Given the description of an element on the screen output the (x, y) to click on. 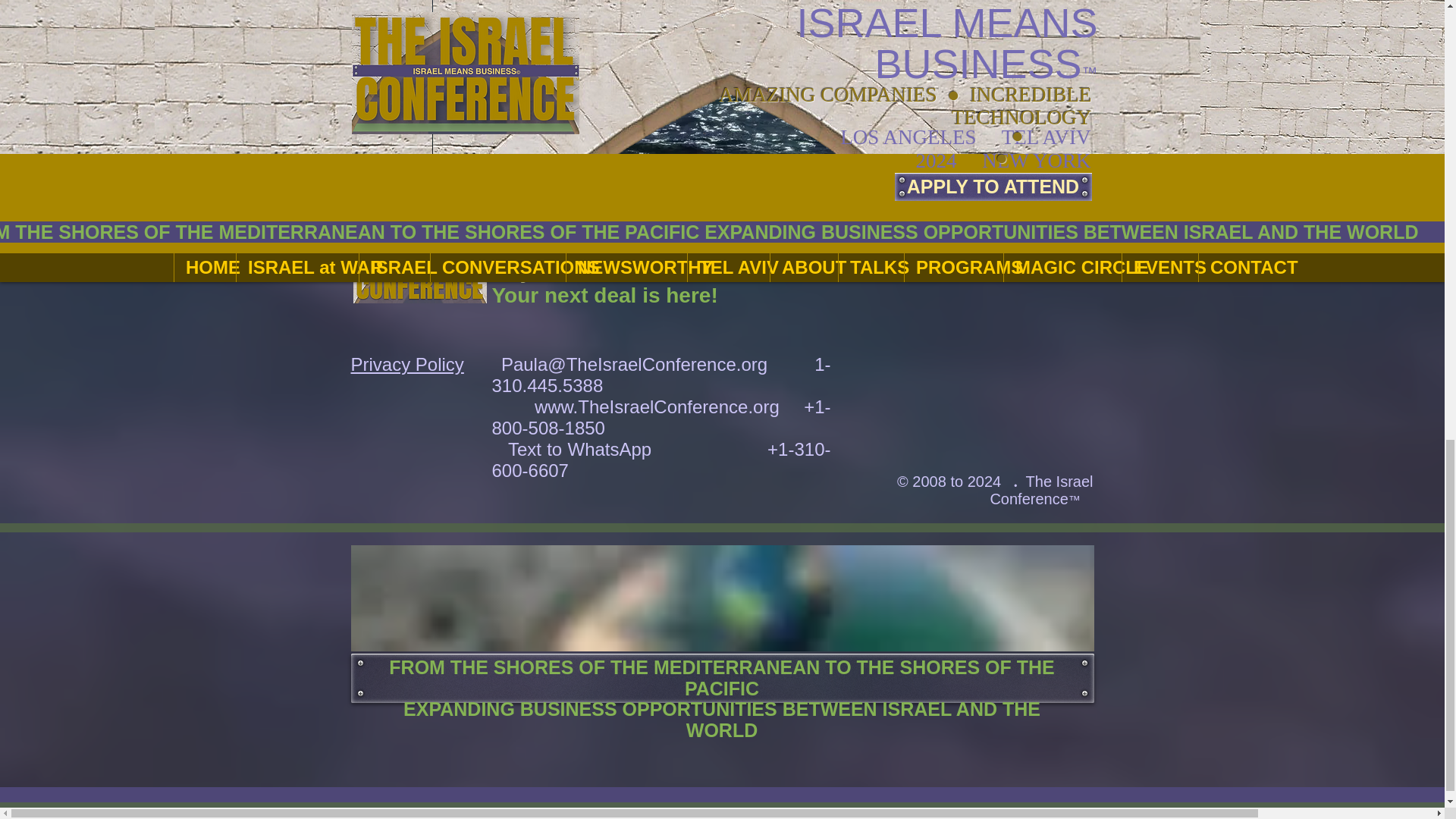
Send (974, 73)
Privacy Policy (406, 363)
www.TheIsraelConference.org (656, 406)
